Given the description of an element on the screen output the (x, y) to click on. 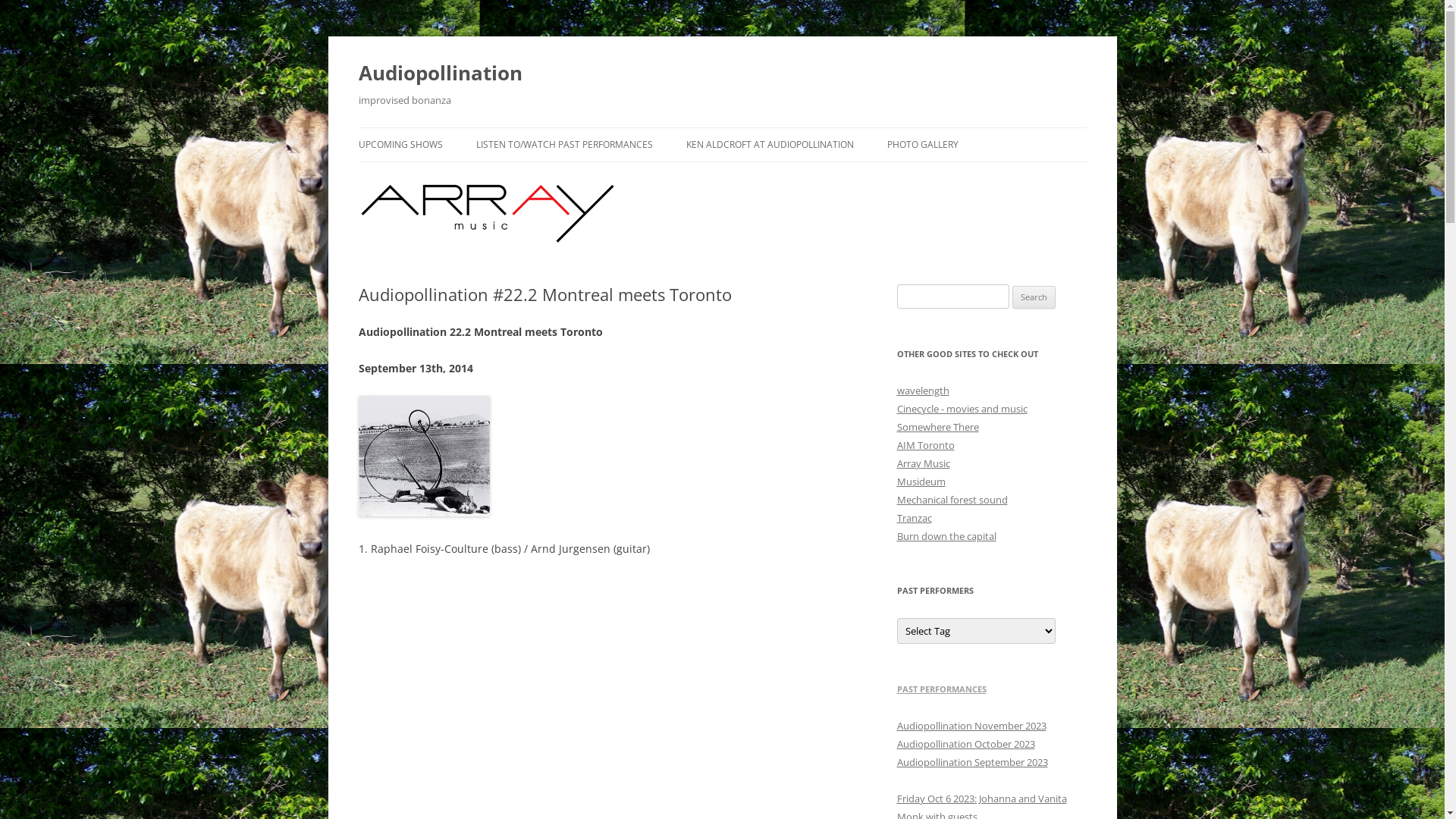
Audiopollination November 2023 Element type: text (970, 725)
Burn down the capital Element type: text (945, 535)
UPCOMING SHOWS Element type: text (399, 144)
Musideum Element type: text (920, 481)
Mechanical forest sound Element type: text (951, 499)
Audiopollination October 2023 Element type: text (965, 743)
PAST PERFORMANCES Element type: text (940, 688)
Somewhere There Element type: text (937, 426)
wavelength Element type: text (922, 390)
LISTEN TO/WATCH PAST PERFORMANCES Element type: text (564, 144)
Audiopollination Element type: text (439, 72)
AIM Toronto Element type: text (924, 444)
Search Element type: text (1033, 296)
PHOTO GALLERY Element type: text (922, 144)
KEN ALDCROFT AT AUDIOPOLLINATION Element type: text (769, 144)
Tranzac Element type: text (913, 517)
Skip to content Element type: text (759, 132)
Audiopollination September 2023 Element type: text (971, 761)
Cinecycle - movies and music Element type: text (961, 408)
Array Music Element type: text (922, 463)
